Given the description of an element on the screen output the (x, y) to click on. 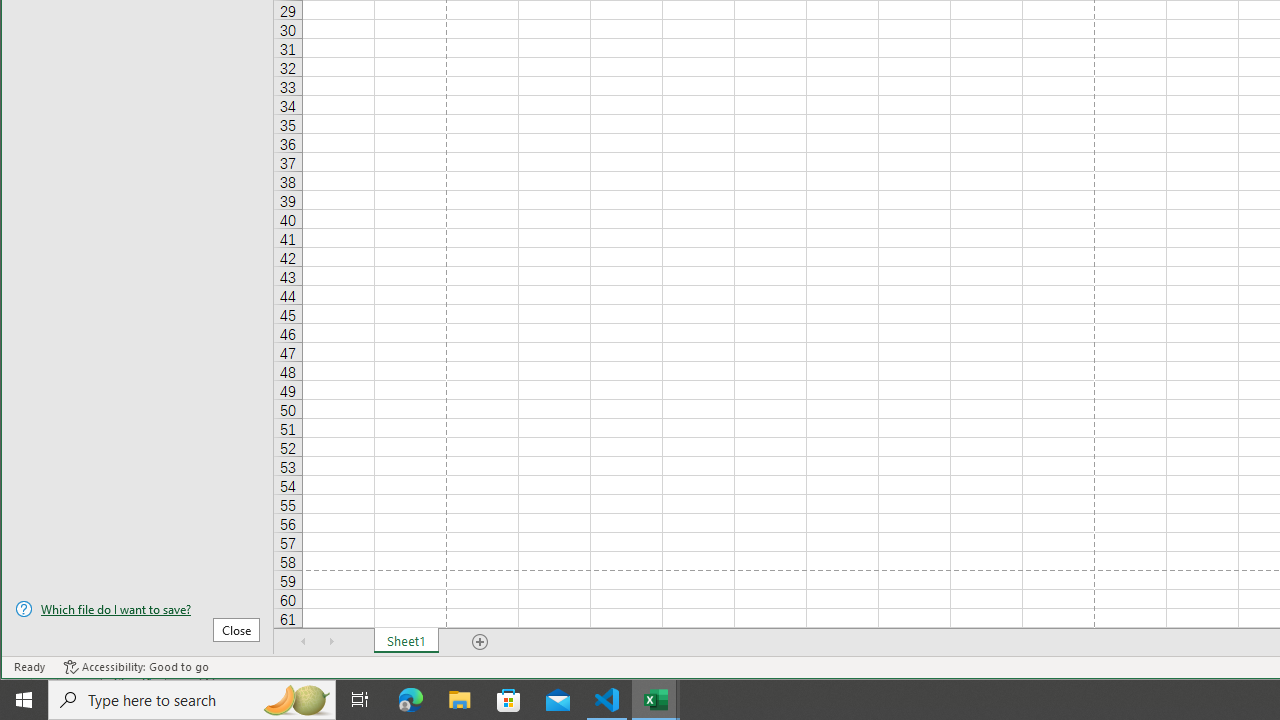
Visual Studio Code - 1 running window (607, 699)
Task View (359, 699)
